Given the description of an element on the screen output the (x, y) to click on. 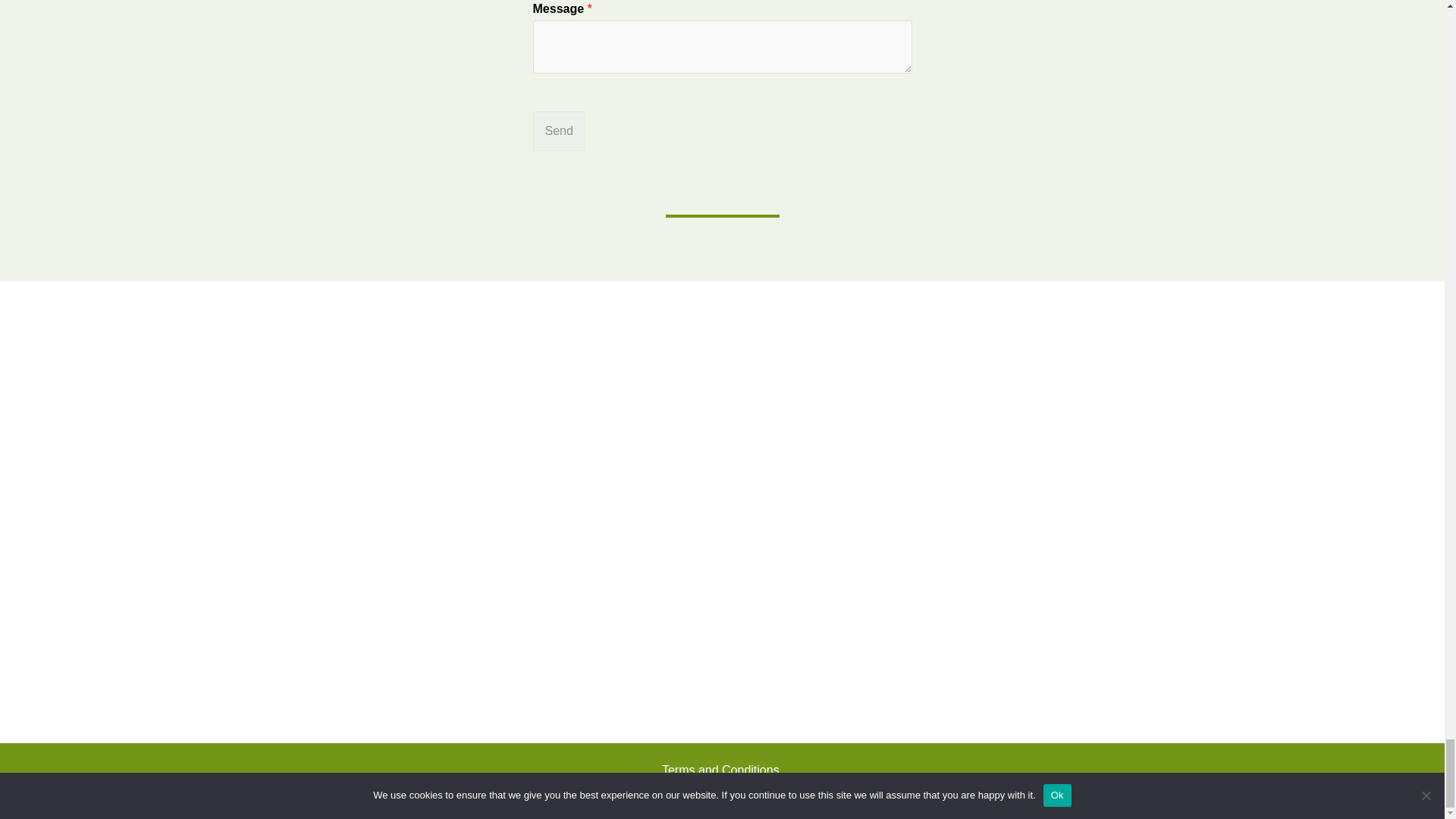
Pixel Reardon (851, 791)
Send (558, 130)
